Given the description of an element on the screen output the (x, y) to click on. 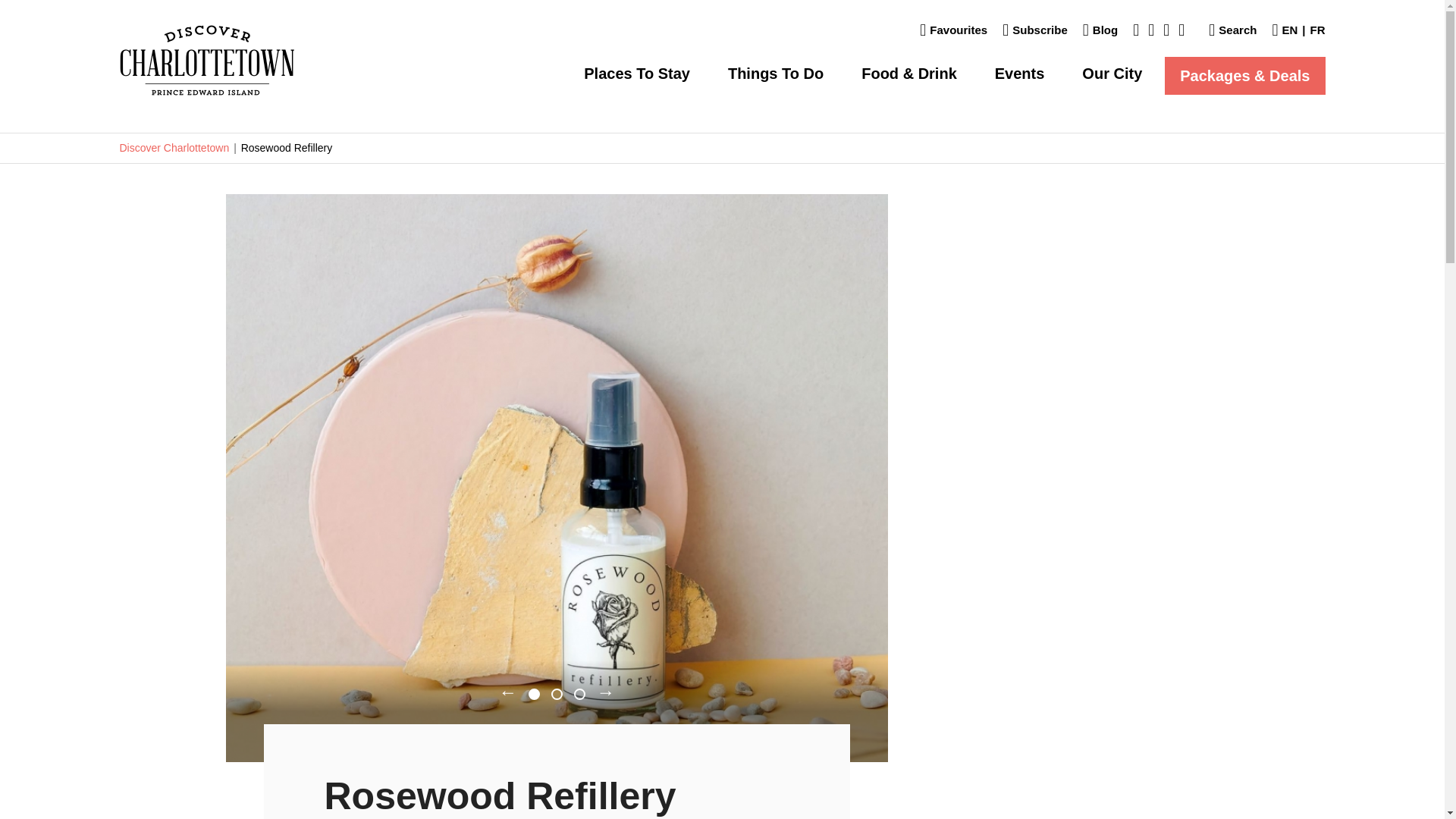
EN (1286, 29)
Things To Do (776, 73)
Discover Charlottetown (206, 61)
Discover Charlottetown (206, 61)
Blog (1100, 29)
Search (1232, 29)
Subscribe (1035, 29)
Blog (1100, 29)
Places To Stay (636, 73)
Our City (1111, 73)
Favourites (953, 29)
Subscribe (1035, 29)
Favourites (953, 29)
Events (1019, 73)
Search (1232, 29)
